Given the description of an element on the screen output the (x, y) to click on. 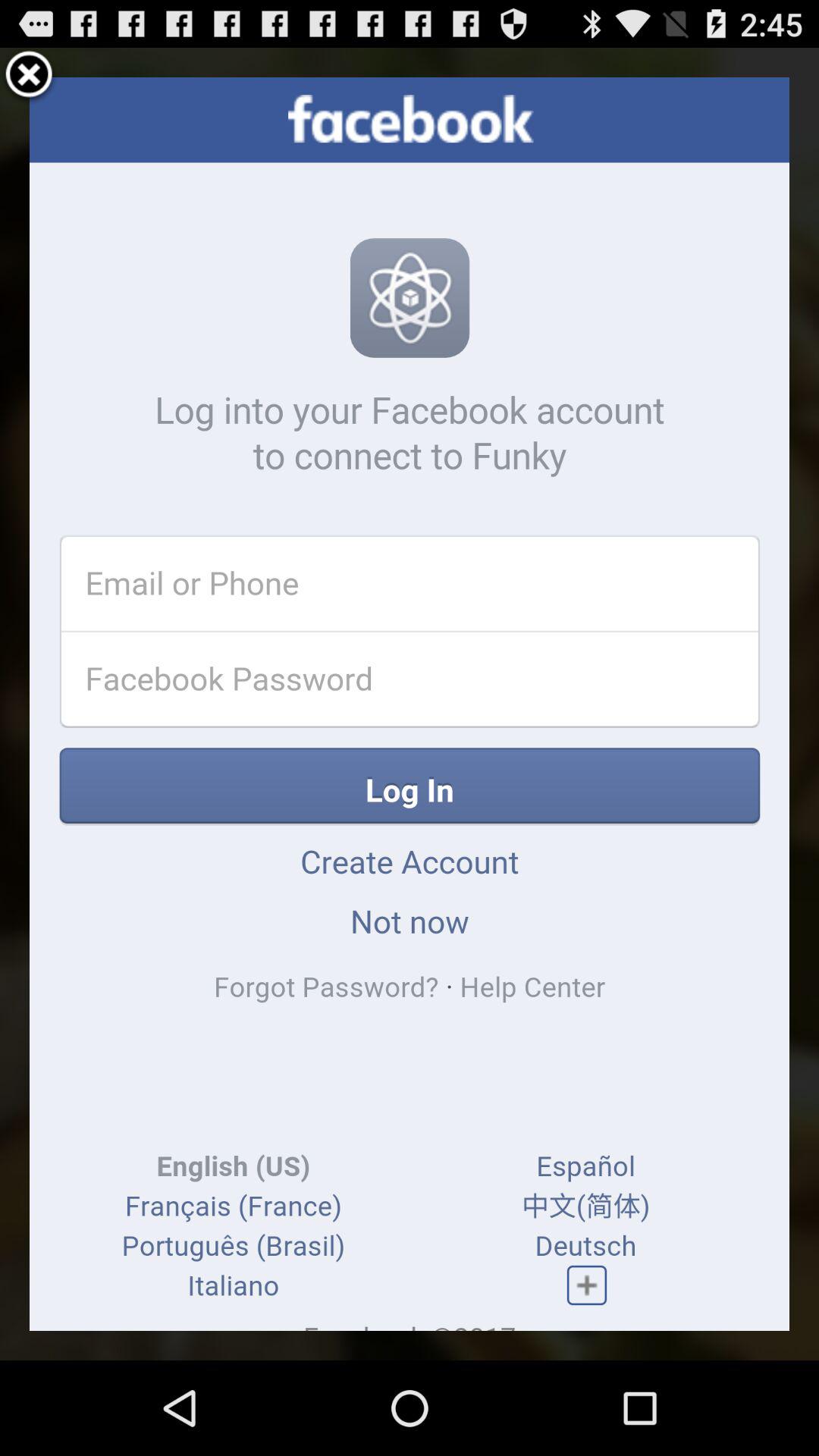
close menu (29, 76)
